Given the description of an element on the screen output the (x, y) to click on. 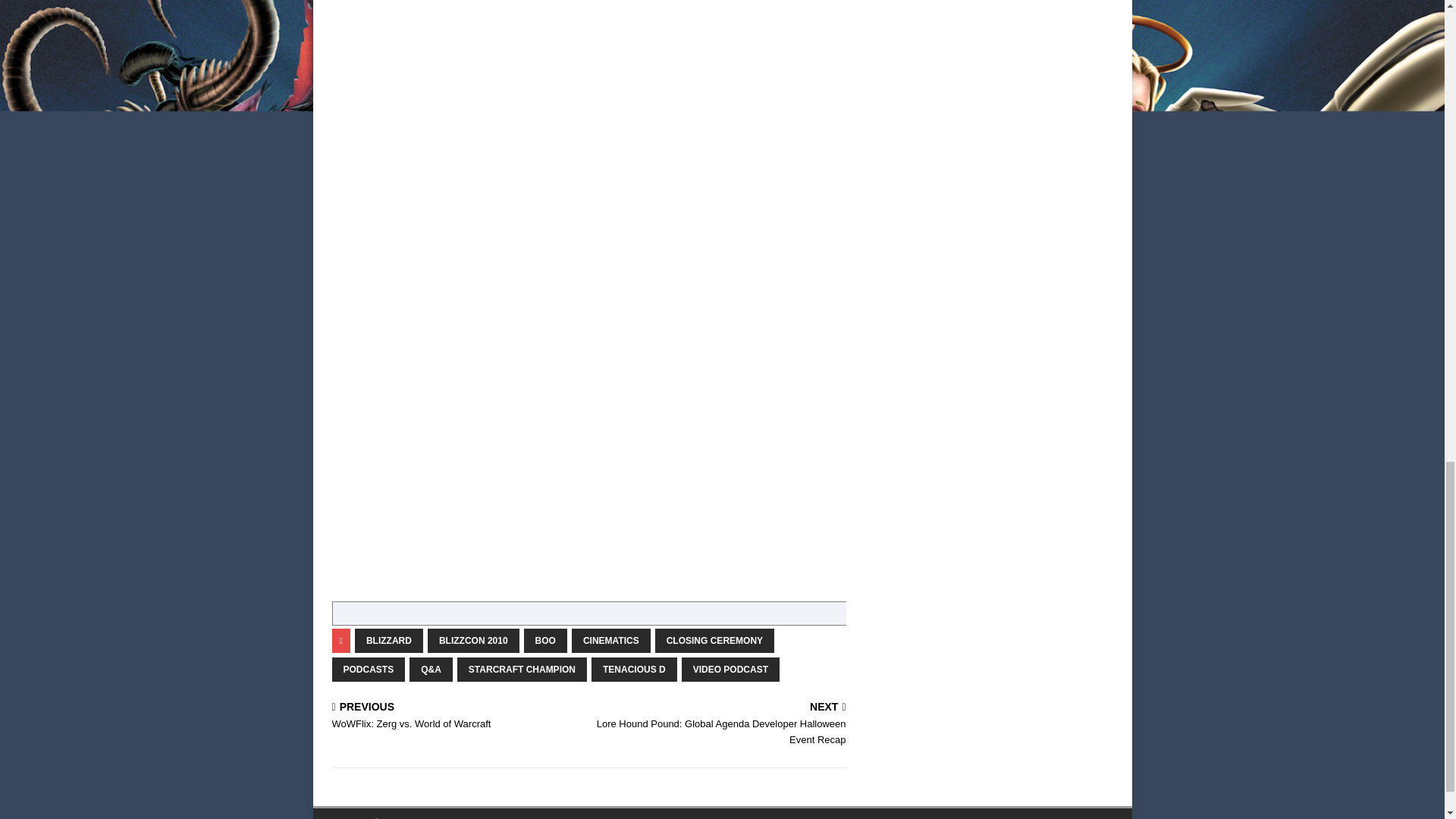
CINEMATICS (611, 640)
STARCRAFT CHAMPION (457, 716)
BLIZZARD (521, 669)
VIDEO PODCAST (389, 640)
TENACIOUS D (729, 669)
PODCASTS (634, 669)
CLOSING CEREMONY (368, 669)
BOO (714, 640)
